Given the description of an element on the screen output the (x, y) to click on. 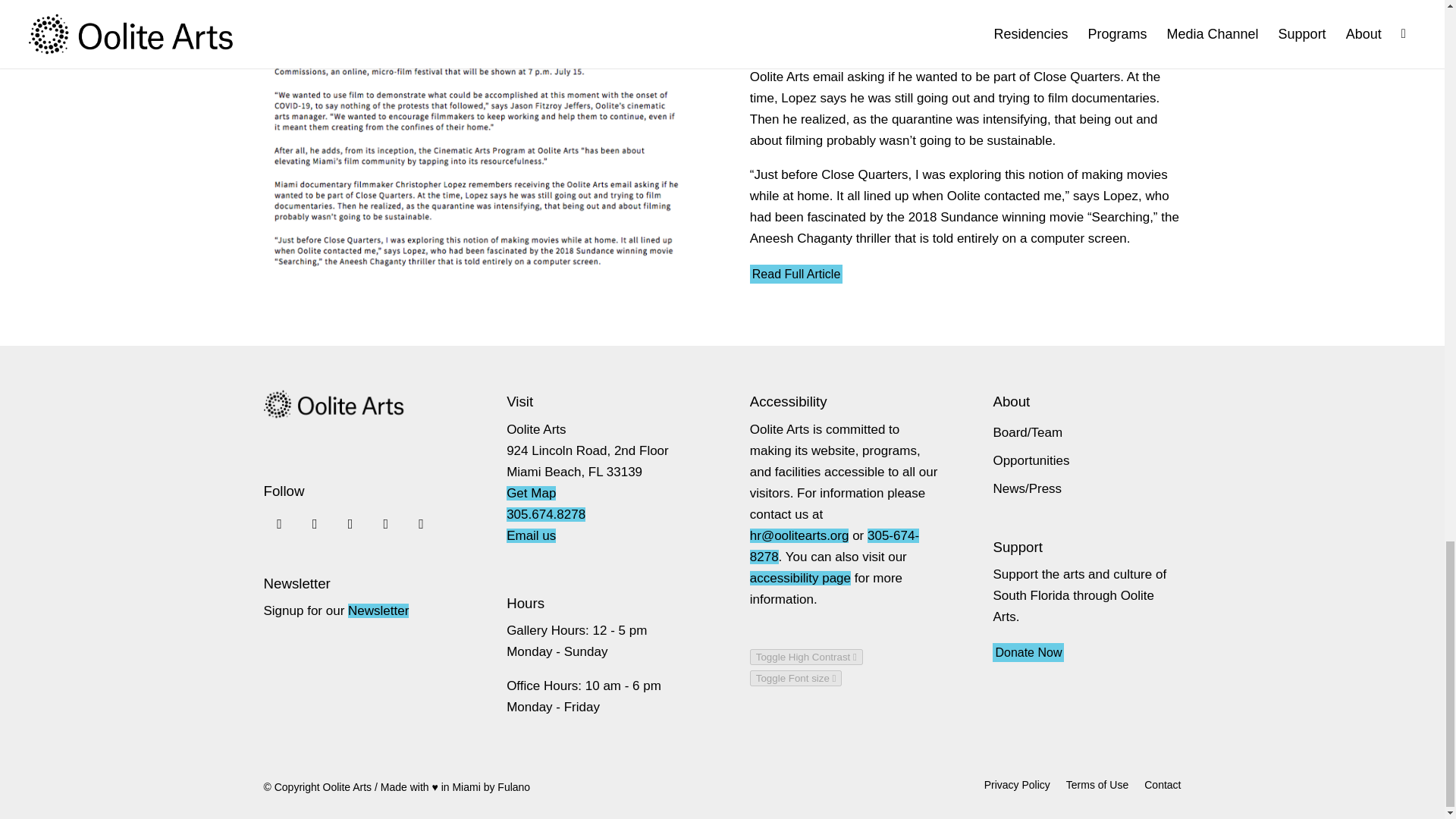
Default Label (420, 523)
Facebook (314, 523)
Default Label (385, 523)
Twitter (349, 523)
Instagram (279, 523)
Oolite Arts Location (531, 493)
